Given the description of an element on the screen output the (x, y) to click on. 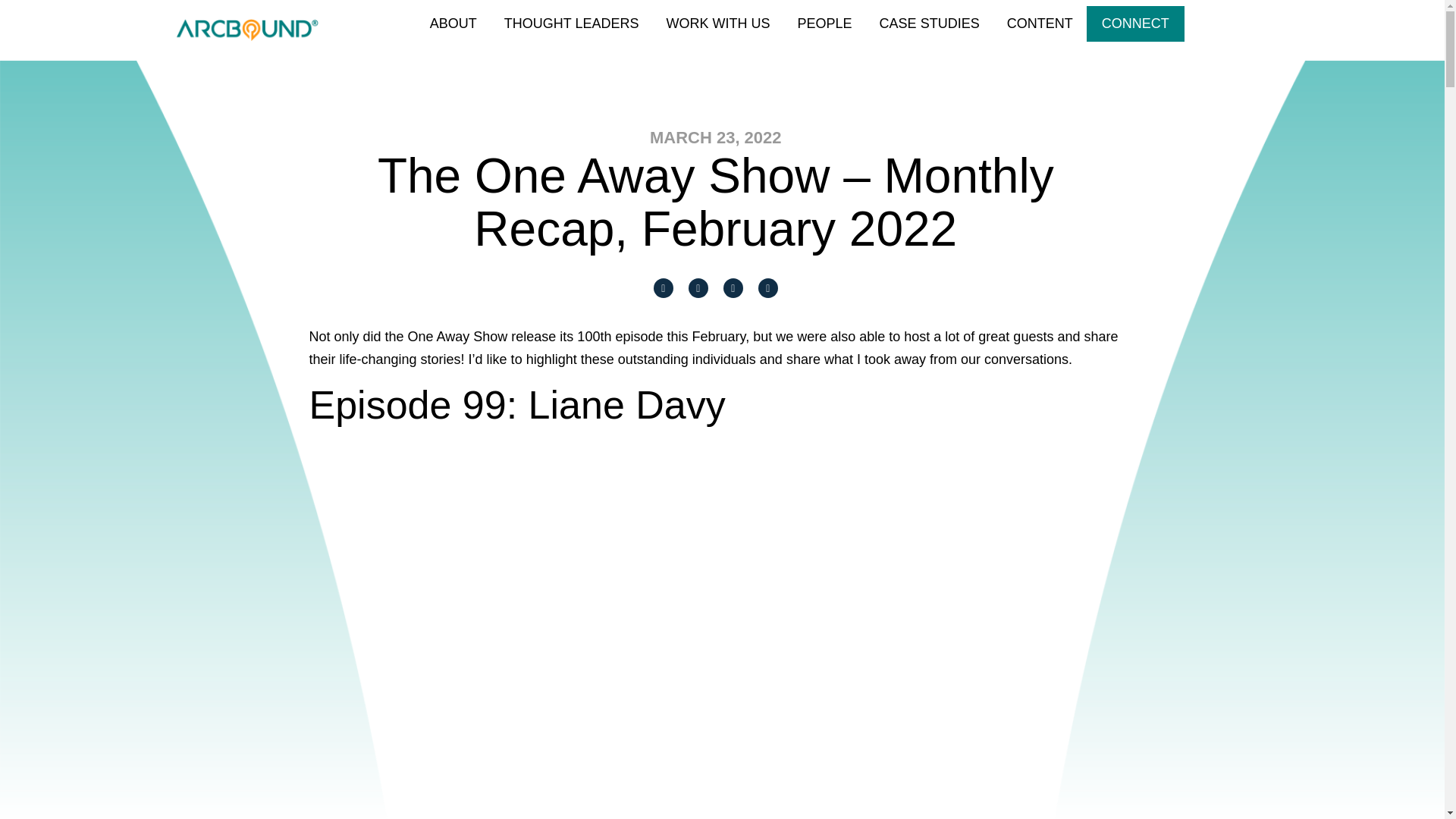
WORK WITH US (718, 23)
PEOPLE (824, 23)
CONTENT (1040, 23)
THOUGHT LEADERS (571, 23)
CASE STUDIES (929, 23)
ABOUT (453, 23)
CONNECT (1135, 23)
